Given the description of an element on the screen output the (x, y) to click on. 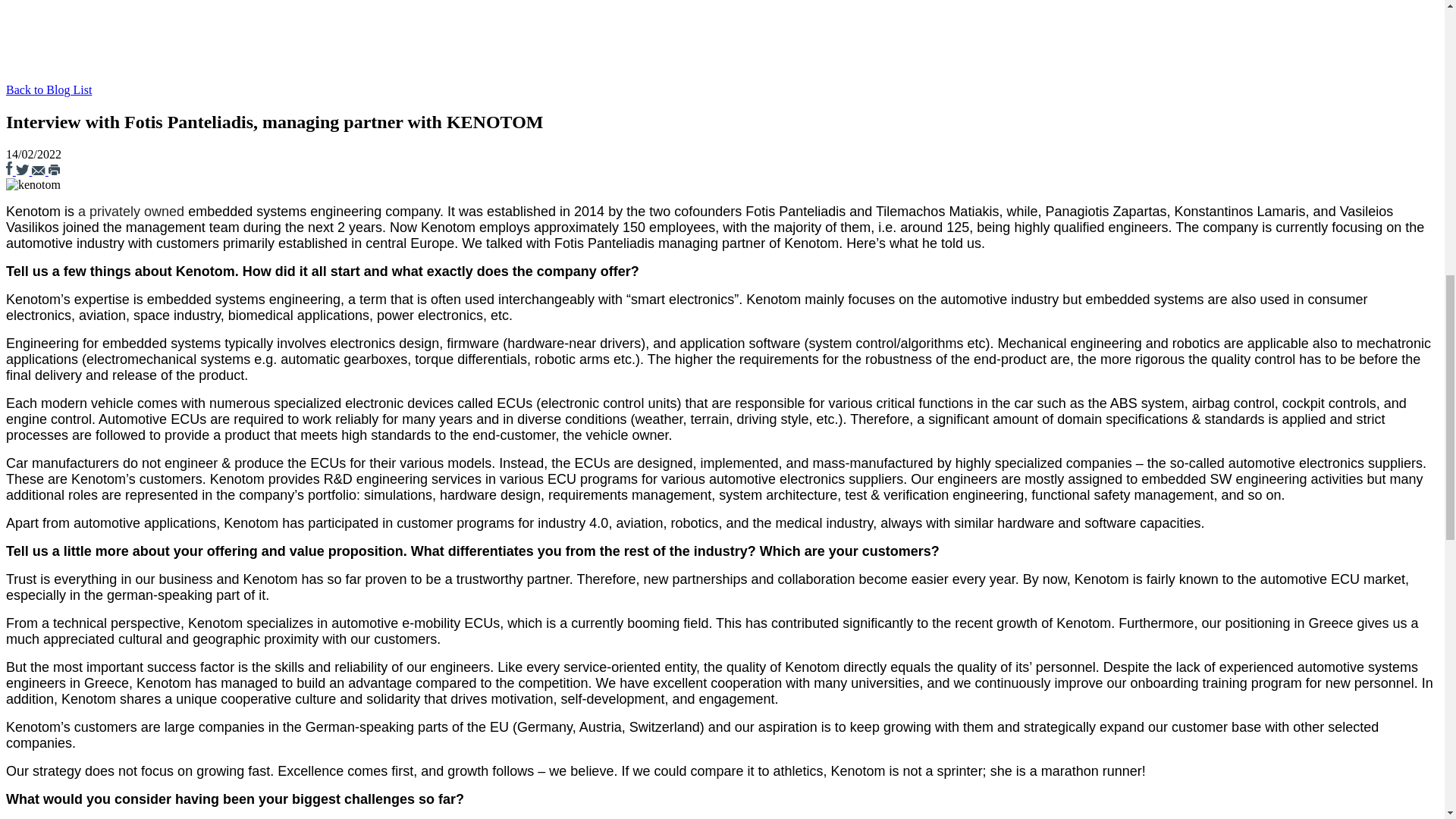
Back to Blog List (48, 89)
